Given the description of an element on the screen output the (x, y) to click on. 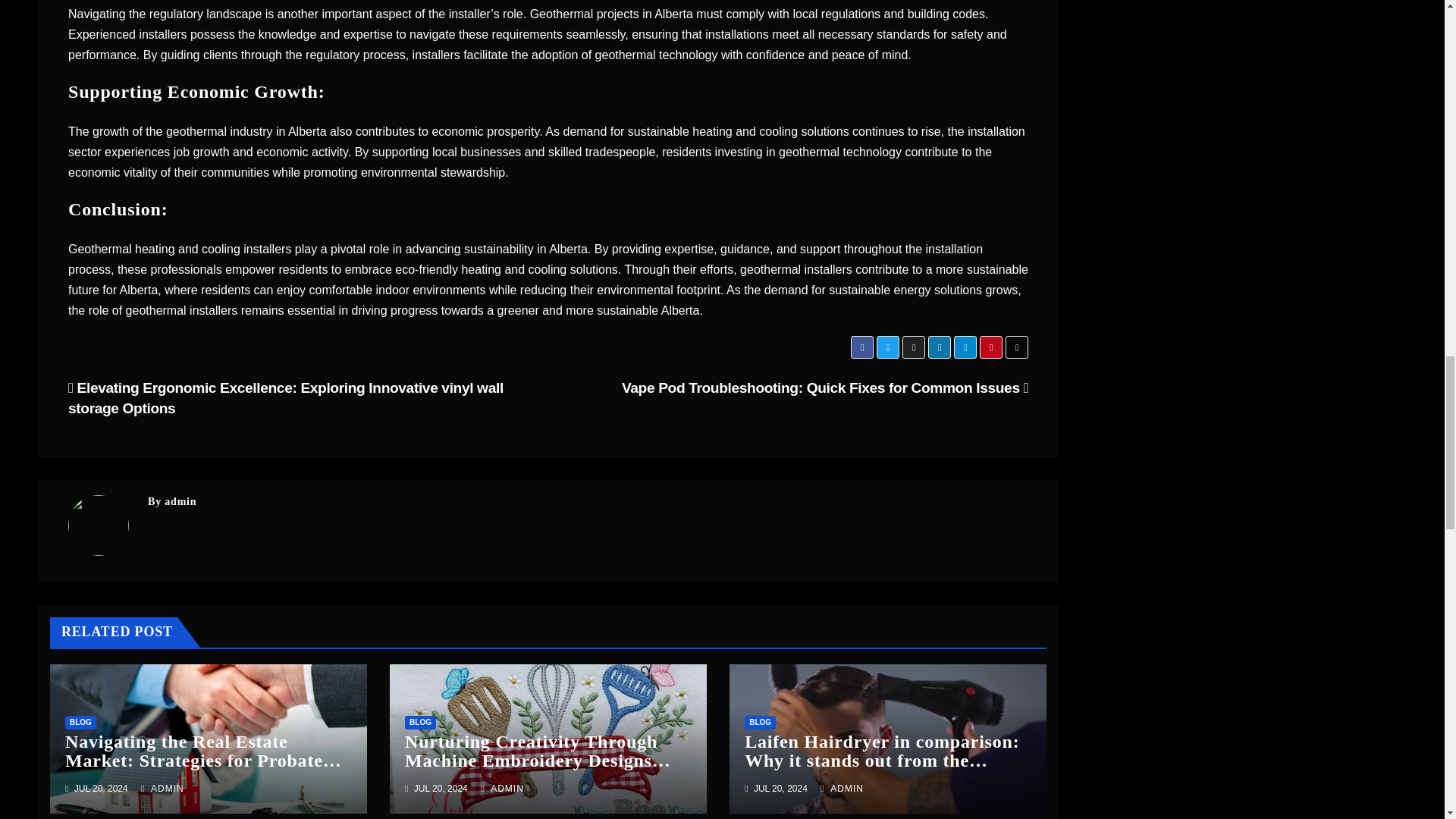
BLOG (419, 722)
Vape Pod Troubleshooting: Quick Fixes for Common Issues (824, 387)
admin (180, 501)
BLOG (80, 722)
ADMIN (162, 787)
ADMIN (502, 787)
ADMIN (842, 787)
BLOG (760, 722)
